Given the description of an element on the screen output the (x, y) to click on. 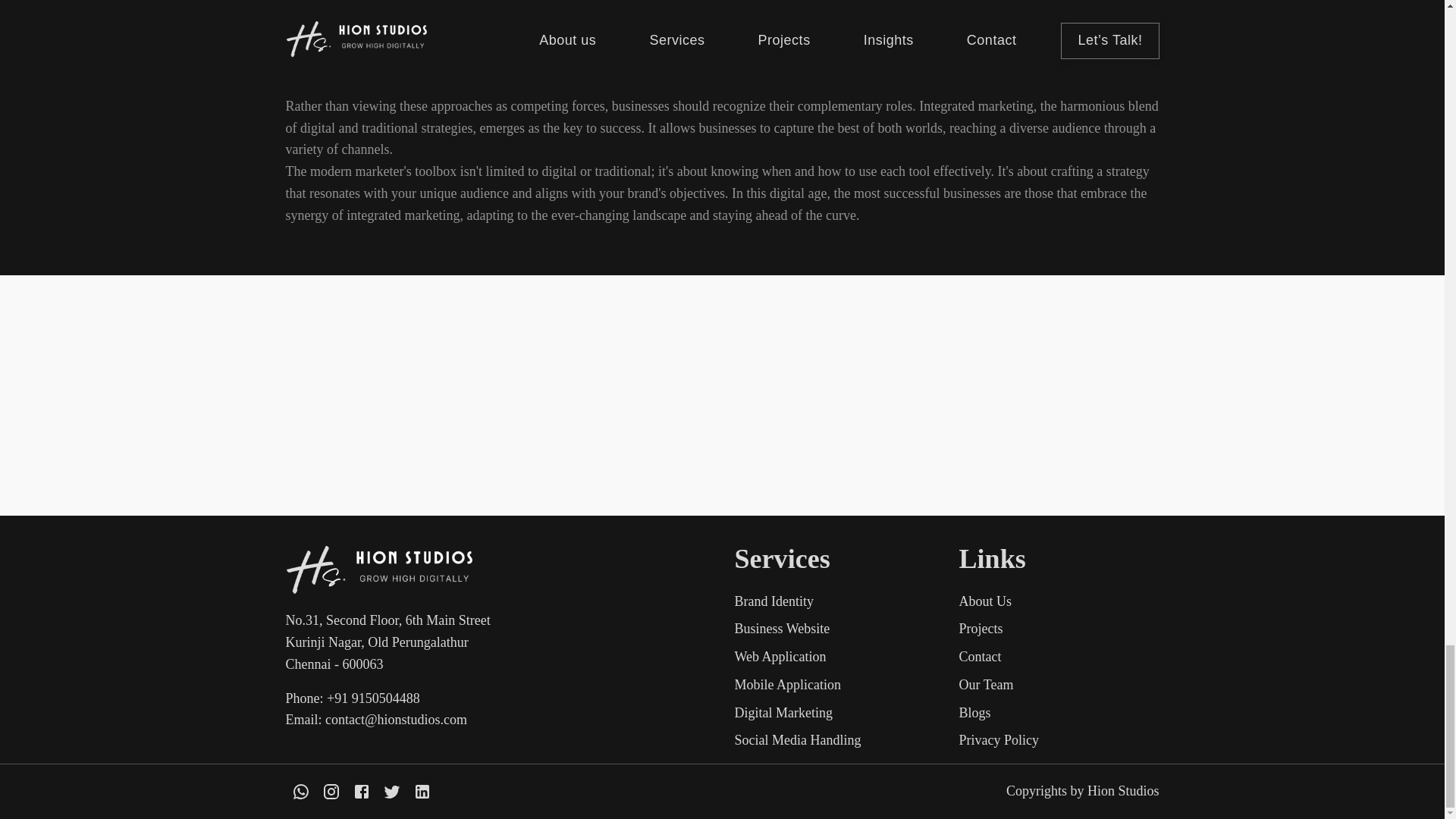
Our Team (1058, 685)
Brand Identity (833, 600)
Contact (1058, 657)
Privacy Policy (1058, 740)
Blogs (1058, 712)
Mobile Application (833, 685)
Web Application (833, 657)
Social Media Handling (833, 740)
Projects (1058, 628)
Digital Marketing (833, 712)
Business Website (833, 628)
Hion Studios (1122, 790)
About Us (1058, 600)
